Given the description of an element on the screen output the (x, y) to click on. 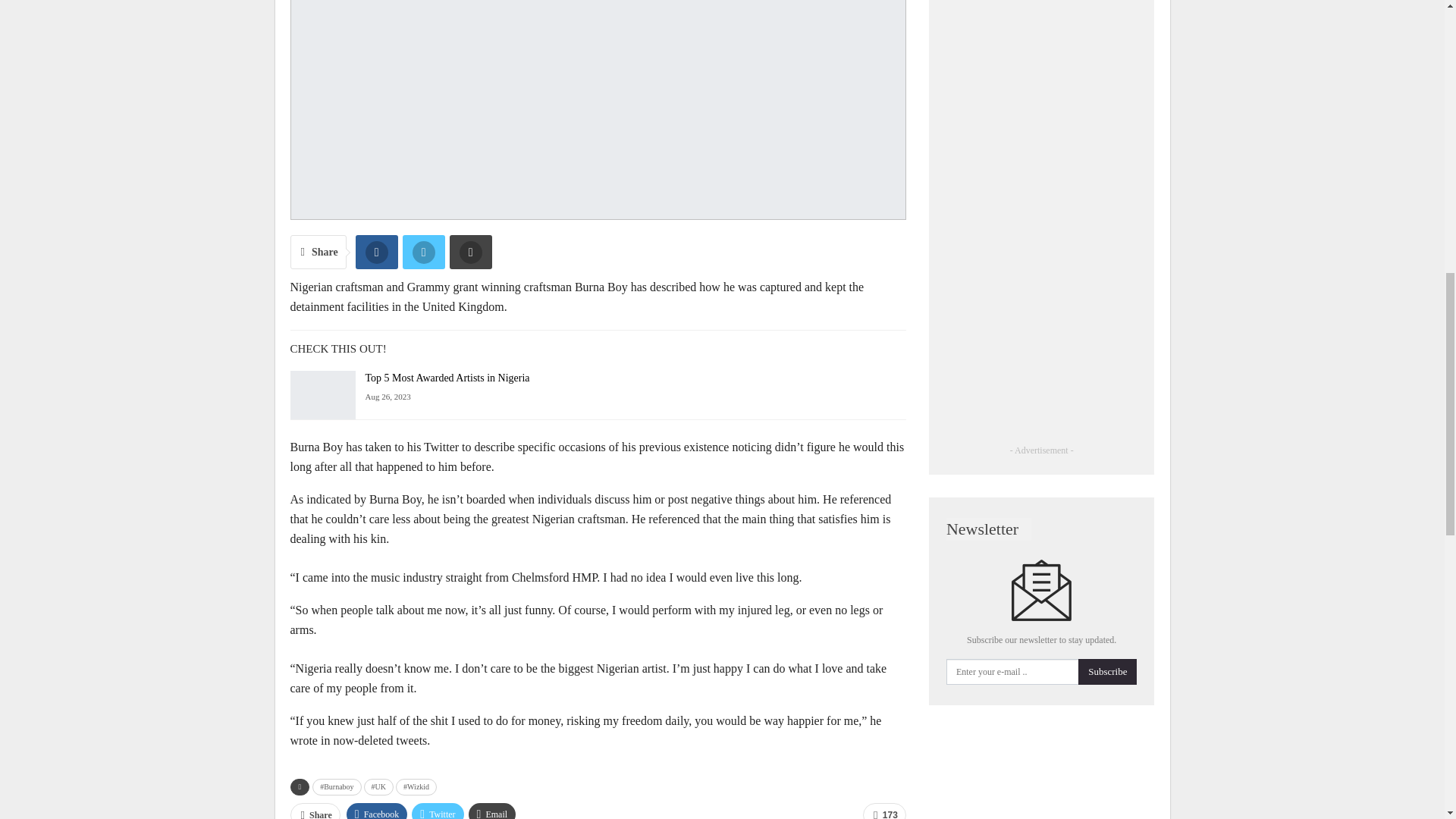
Top 5 Most Awarded Artists in Nigeria (447, 378)
Email (492, 811)
Twitter (437, 811)
Top 5 Most Awarded Artists in Nigeria (322, 395)
Facebook (376, 811)
